Given the description of an element on the screen output the (x, y) to click on. 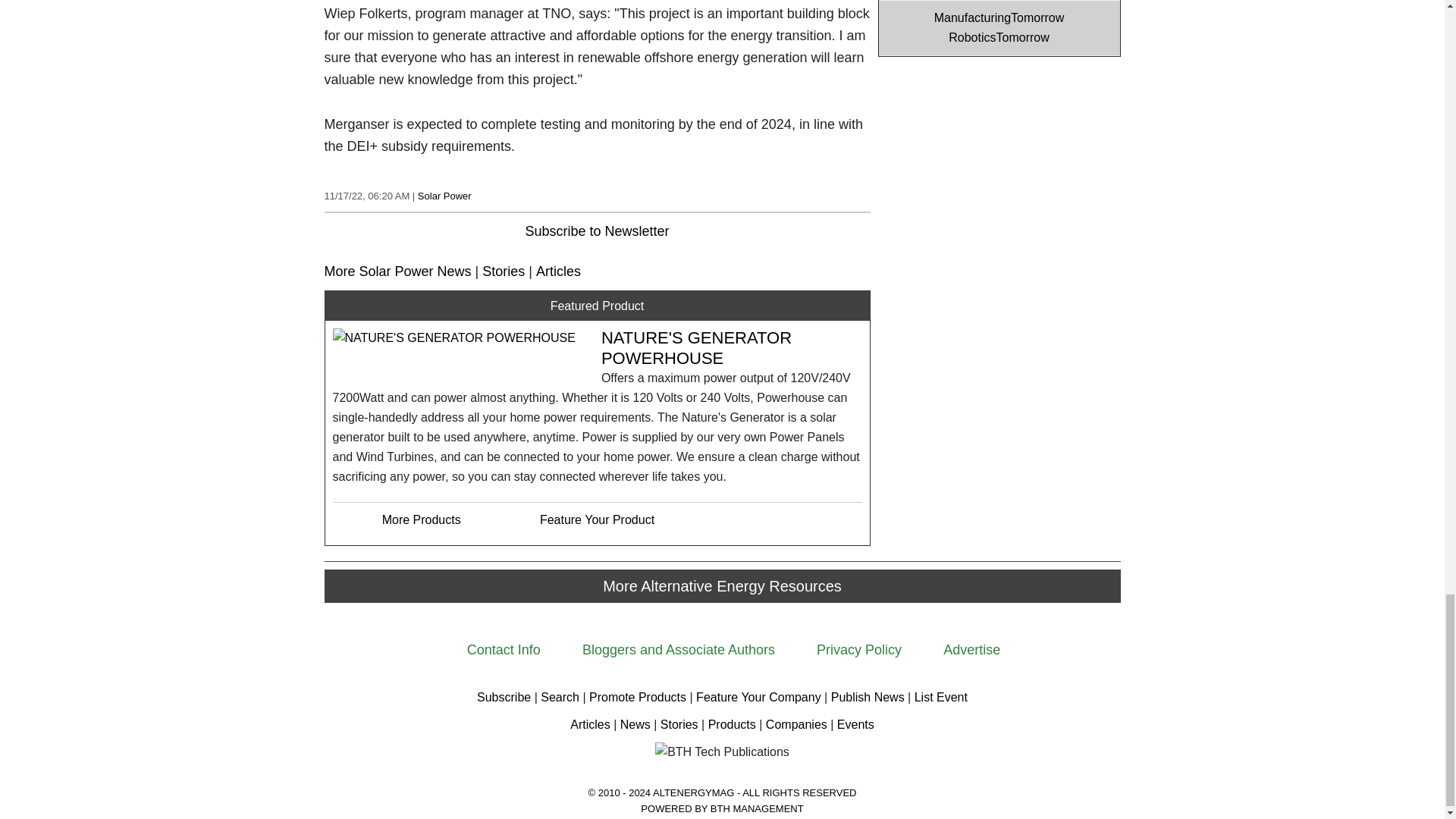
Subscribe to Newsletter (596, 231)
Articles (557, 271)
NATURE'S GENERATOR POWERHOUSE (696, 347)
More Solar Power News (397, 271)
Solar Power (444, 195)
More Products (421, 519)
Stories (502, 271)
